Given the description of an element on the screen output the (x, y) to click on. 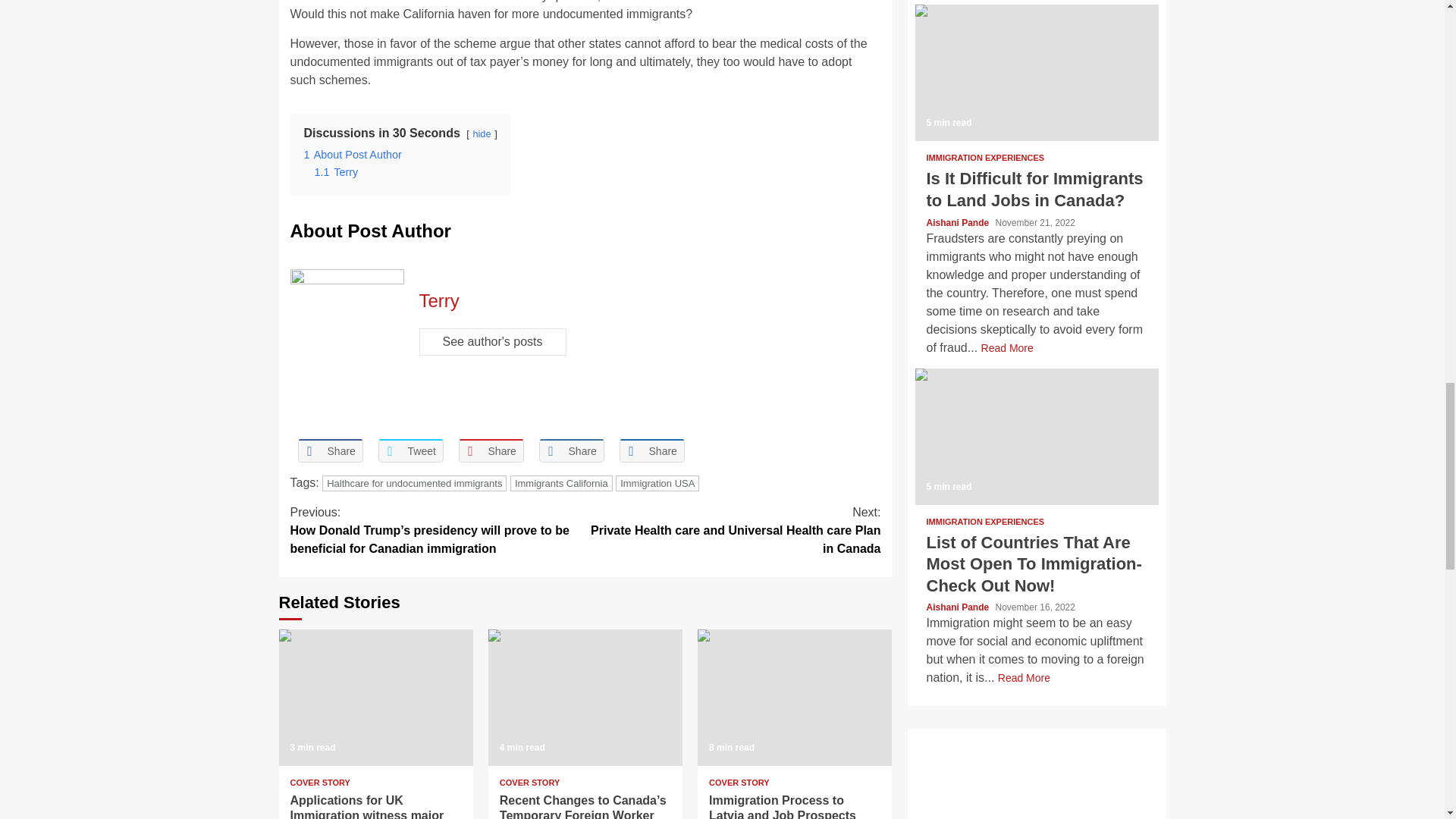
Share (490, 450)
hide (480, 133)
1.1 Terry (336, 172)
Tweet (409, 450)
Share on Digg (651, 450)
Share on LinkedIn (571, 450)
See author's posts (492, 341)
Share on Pinterest (490, 450)
Share on Facebook (329, 450)
Terry (438, 300)
